Given the description of an element on the screen output the (x, y) to click on. 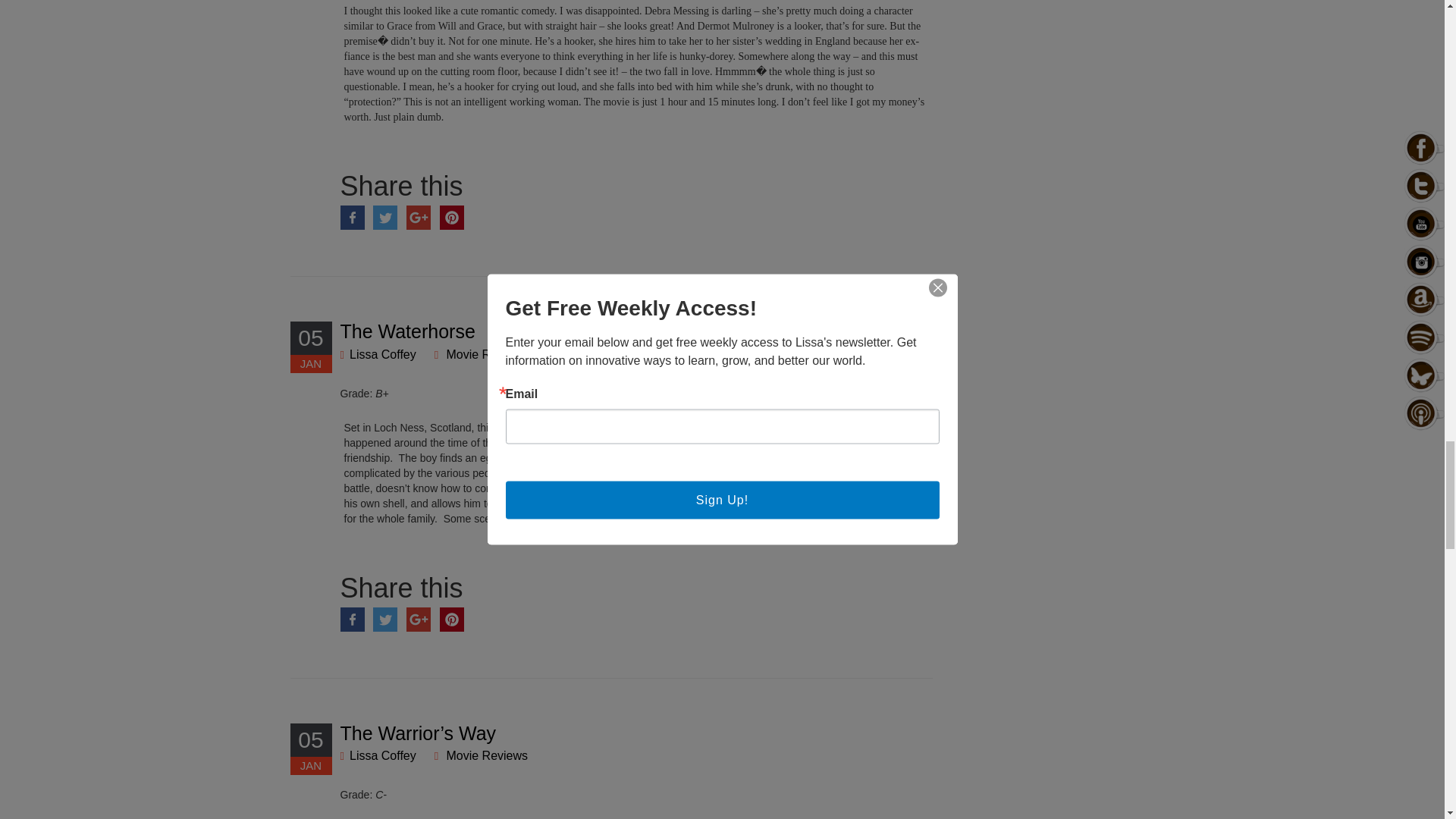
The Waterhorse (406, 331)
